Given the description of an element on the screen output the (x, y) to click on. 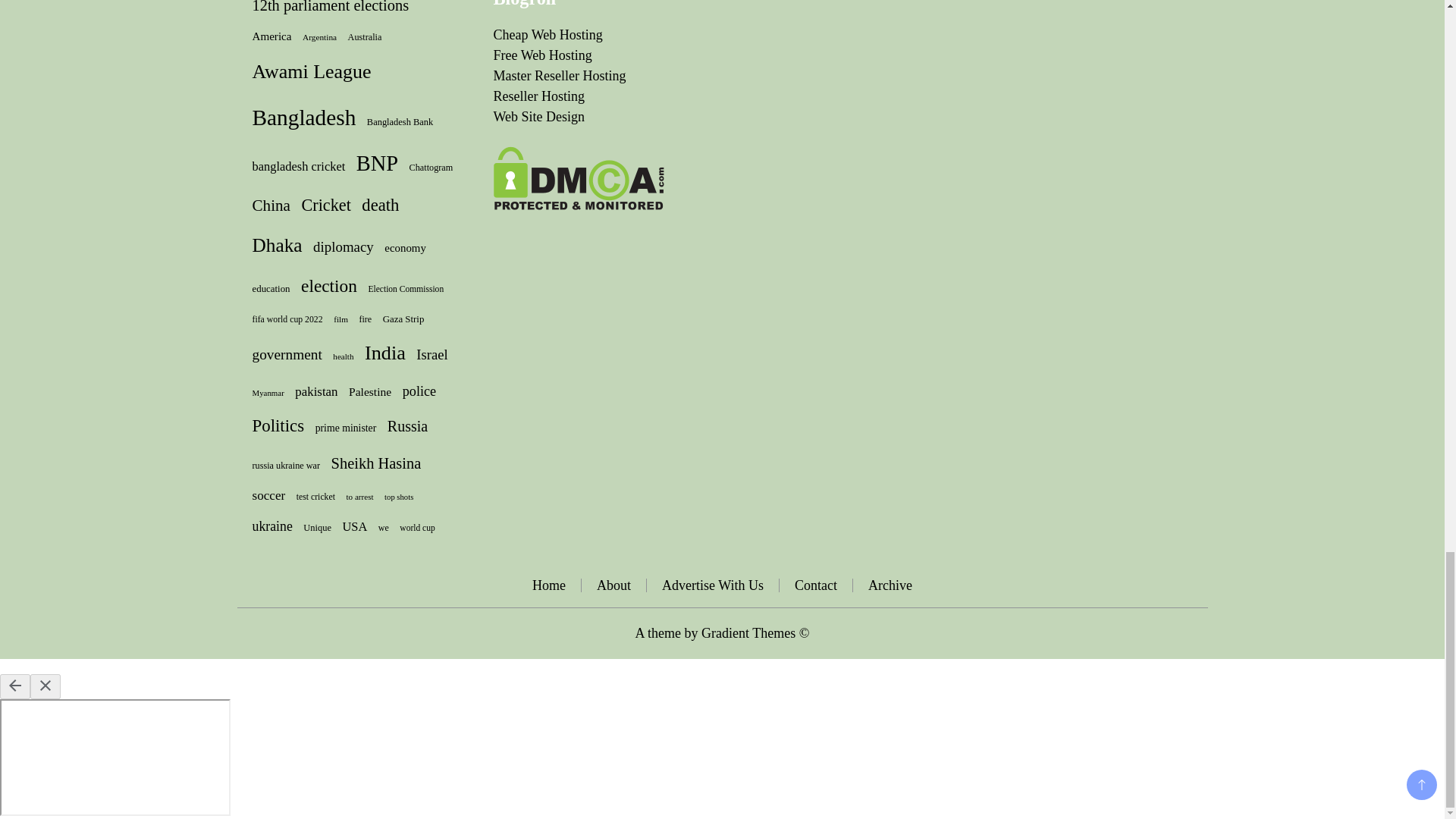
Cheap Web Hosting (547, 34)
Web Site Design (539, 116)
DMCA.com Protection Program (578, 155)
Reseller Hosting (538, 96)
Master Reseller Hosting (559, 75)
